Given the description of an element on the screen output the (x, y) to click on. 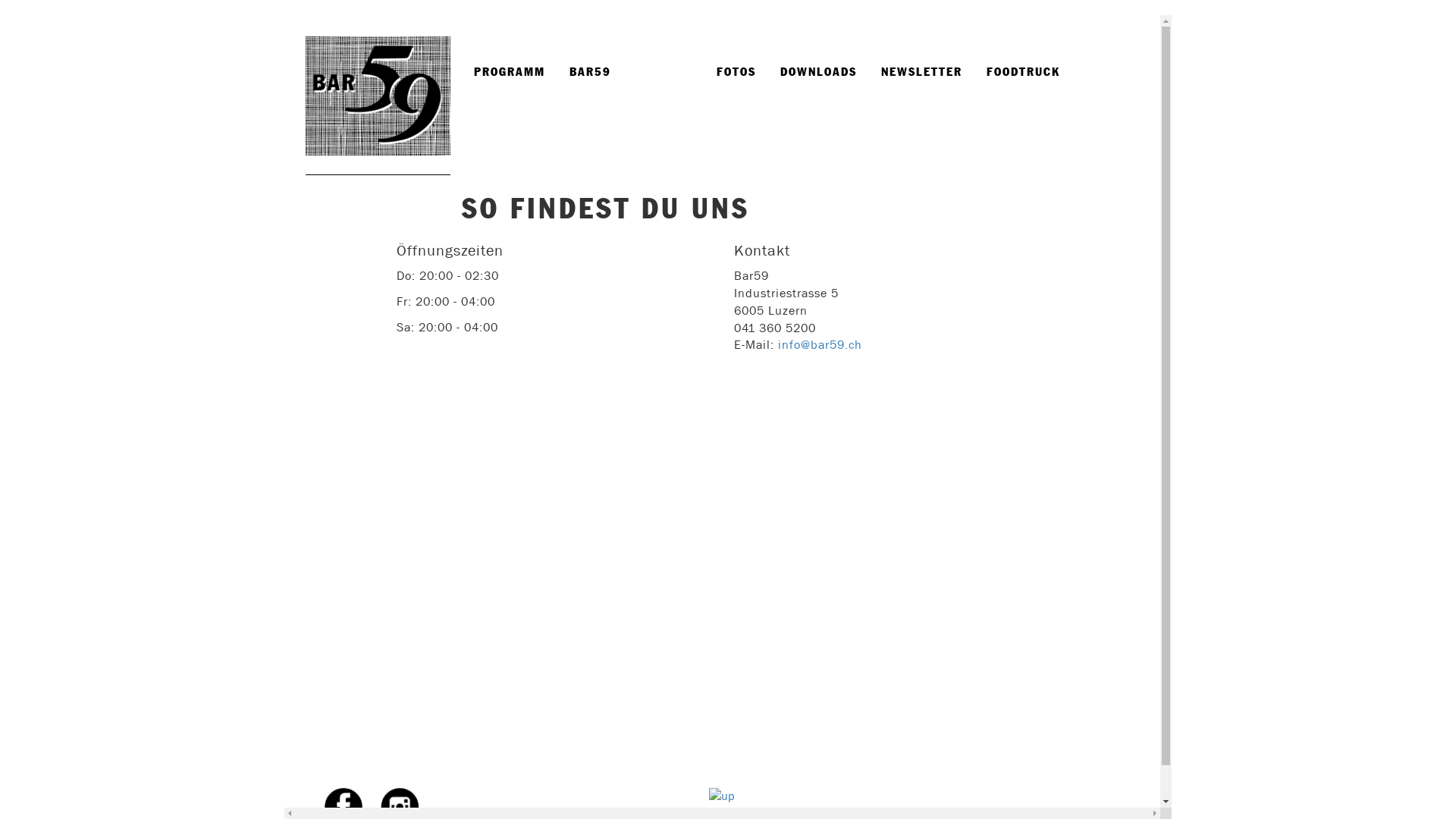
KONTAKT Element type: text (663, 72)
FOTOS Element type: text (736, 72)
info@bar59.ch Element type: text (820, 344)
FOODTRUCK Element type: text (1023, 72)
DOWNLOADS Element type: text (818, 72)
PROGRAMM Element type: text (509, 72)
NEWSLETTER Element type: text (921, 72)
BAR59 Element type: text (590, 72)
